Given the description of an element on the screen output the (x, y) to click on. 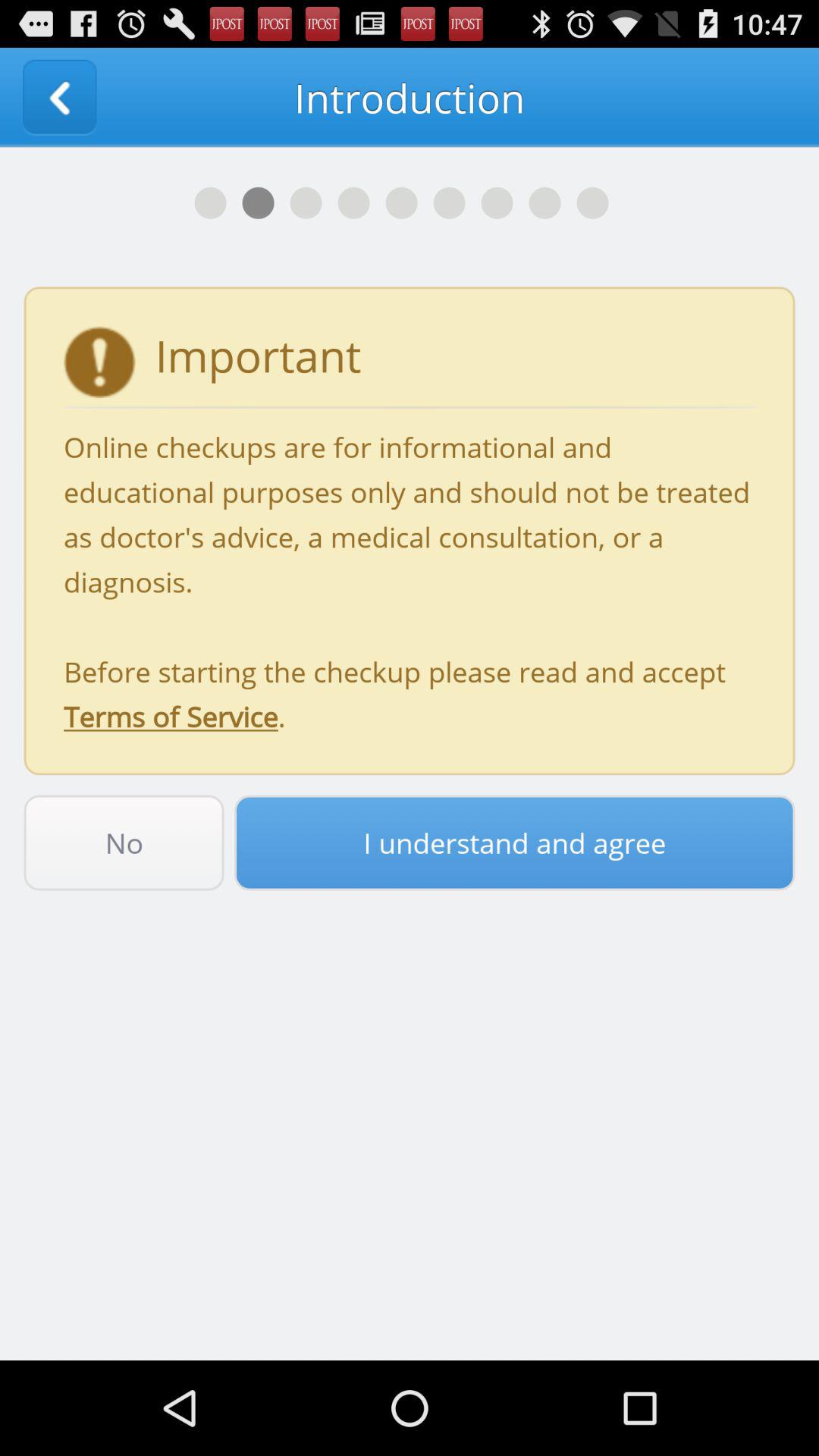
turn off no item (123, 842)
